Given the description of an element on the screen output the (x, y) to click on. 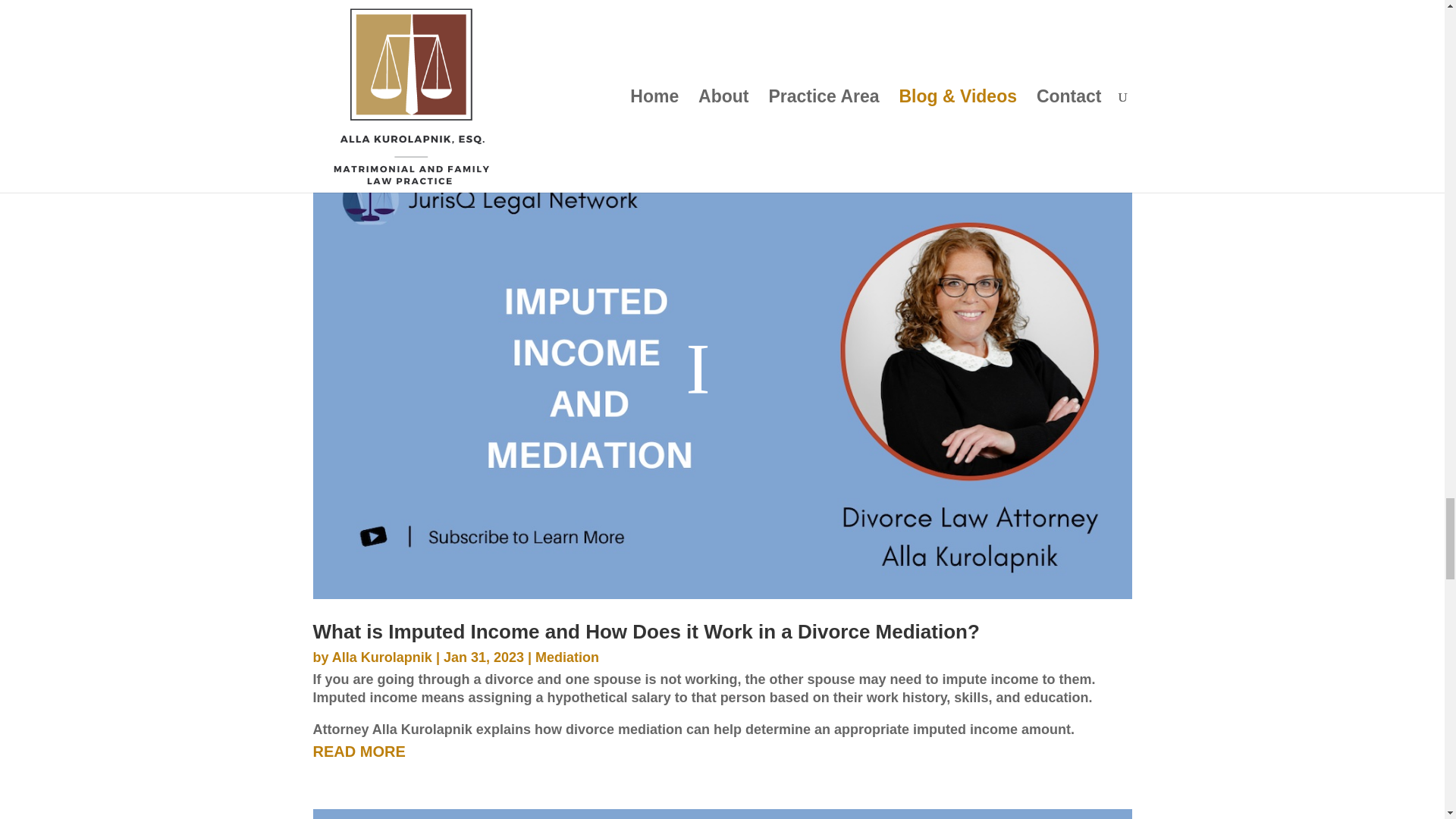
Posts by Alla Kurolapnik (381, 657)
Posts by Alla Kurolapnik (381, 3)
